Given the description of an element on the screen output the (x, y) to click on. 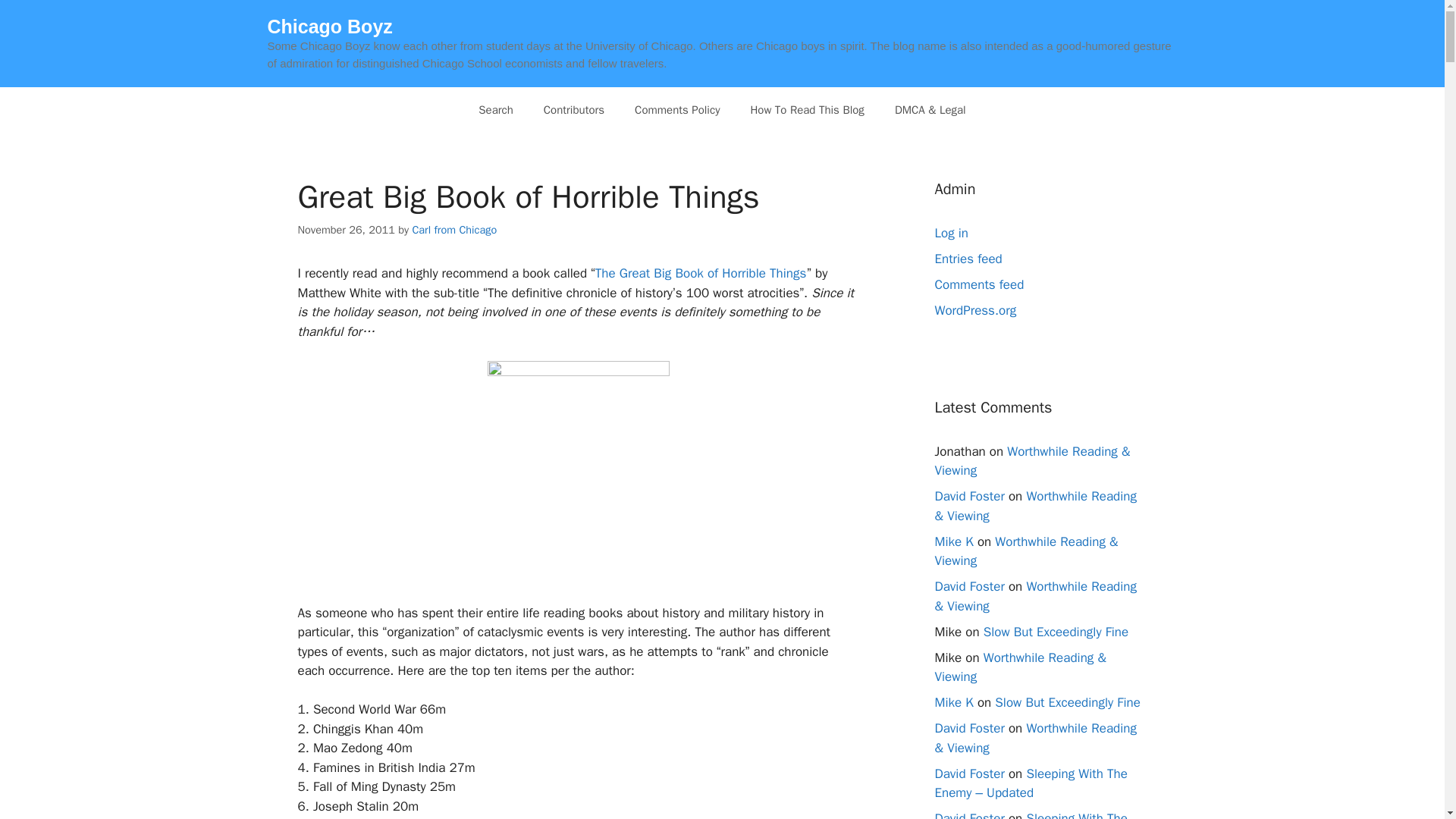
Search (495, 109)
Carl from Chicago (454, 229)
Chicago Boyz (328, 25)
How To Read This Blog (807, 109)
The Great Big Book of Horrible Things (700, 273)
Contributors (574, 109)
Comments Policy (677, 109)
View all posts by Carl from Chicago (454, 229)
